Given the description of an element on the screen output the (x, y) to click on. 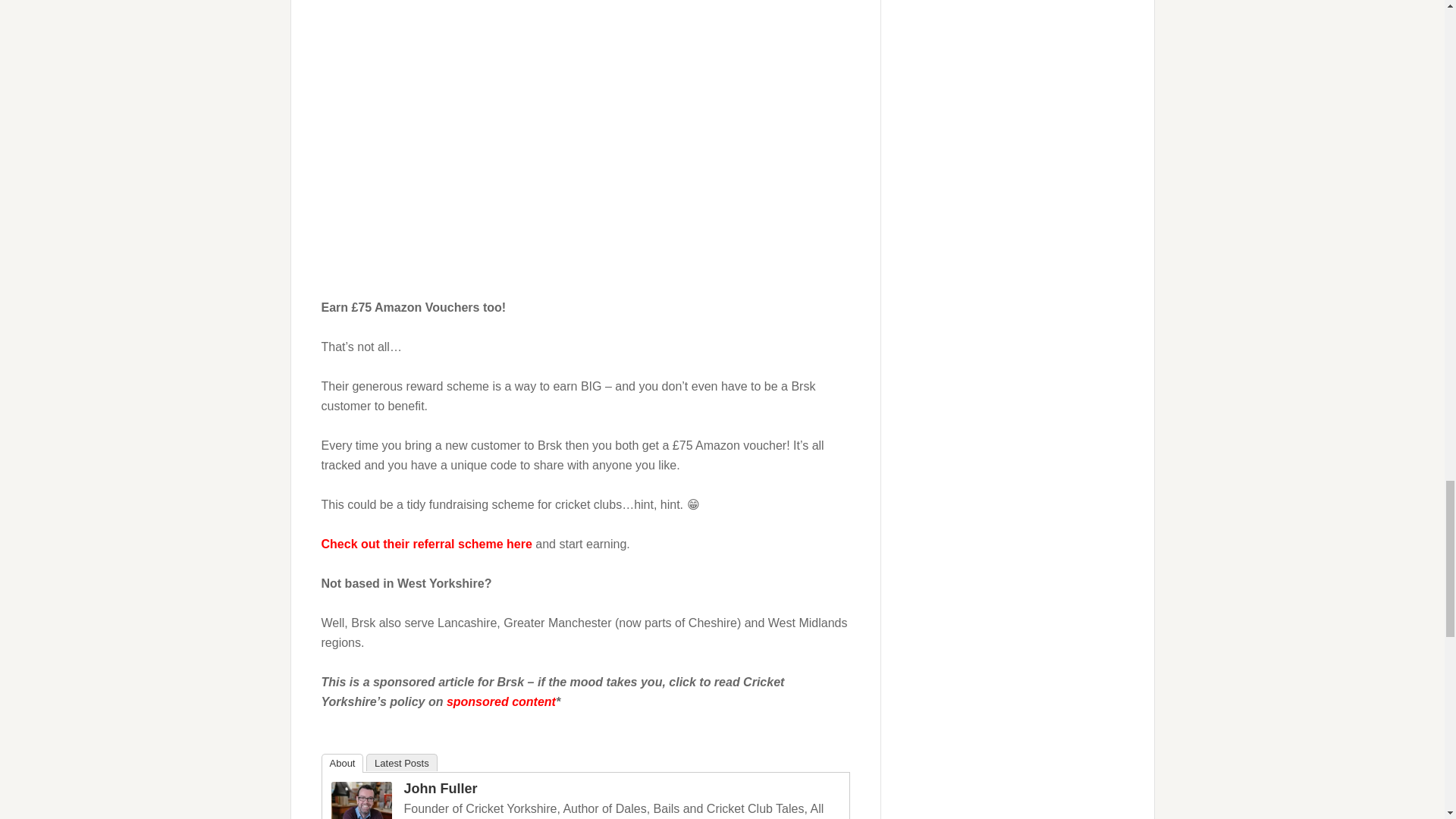
Check out their referral scheme here (426, 543)
John Fuller (440, 788)
sponsored content (501, 701)
Latest Posts (402, 762)
About (342, 763)
